Given the description of an element on the screen output the (x, y) to click on. 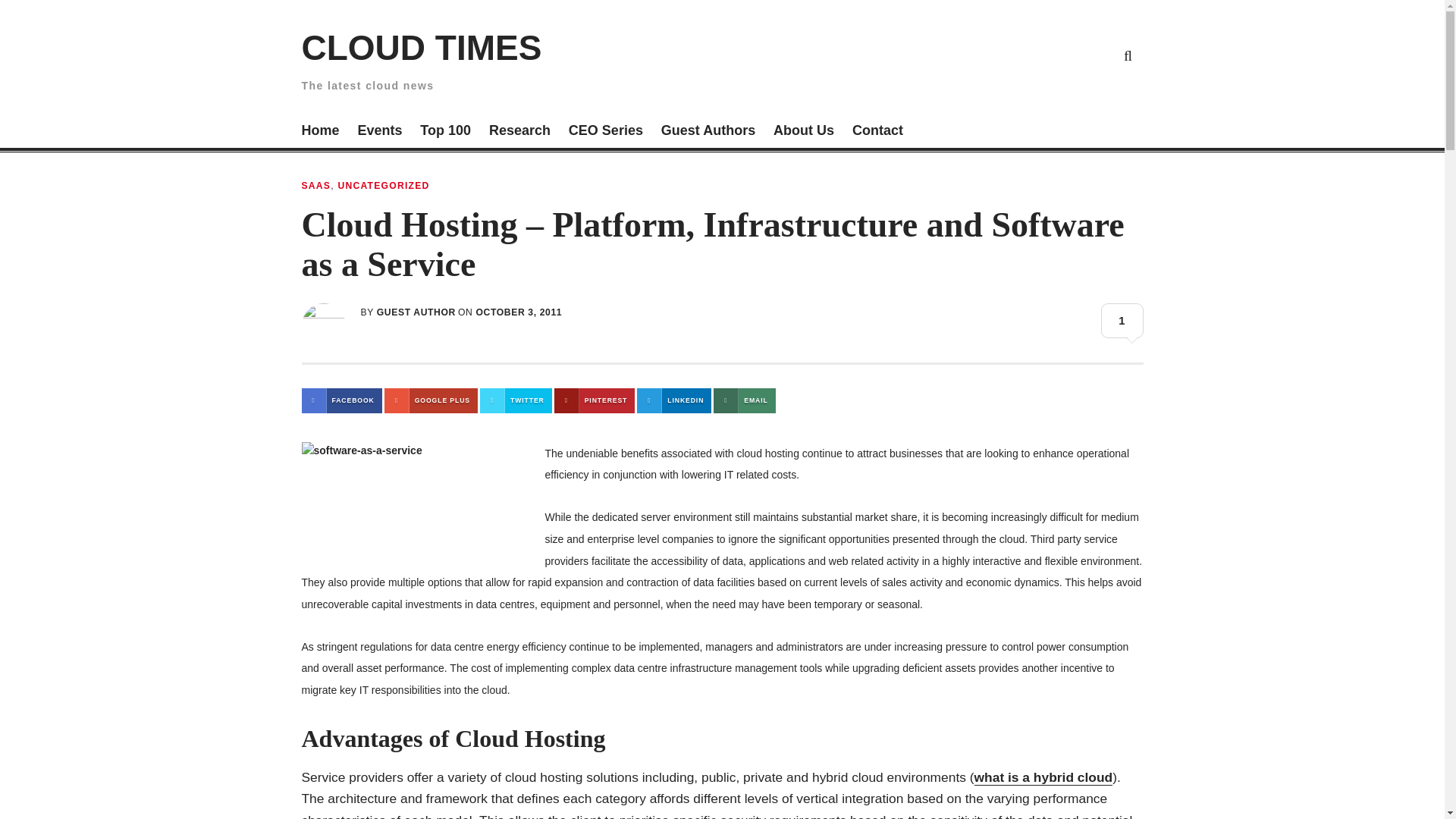
software as a service (415, 505)
Cloud Storage (951, 54)
GUEST AUTHOR (416, 312)
SAAS (316, 185)
White Paper (1092, 54)
Home (320, 132)
GOOGLE PLUS (430, 400)
About Us (803, 132)
Cloud Security (1056, 54)
FACEBOOK (341, 400)
